Given the description of an element on the screen output the (x, y) to click on. 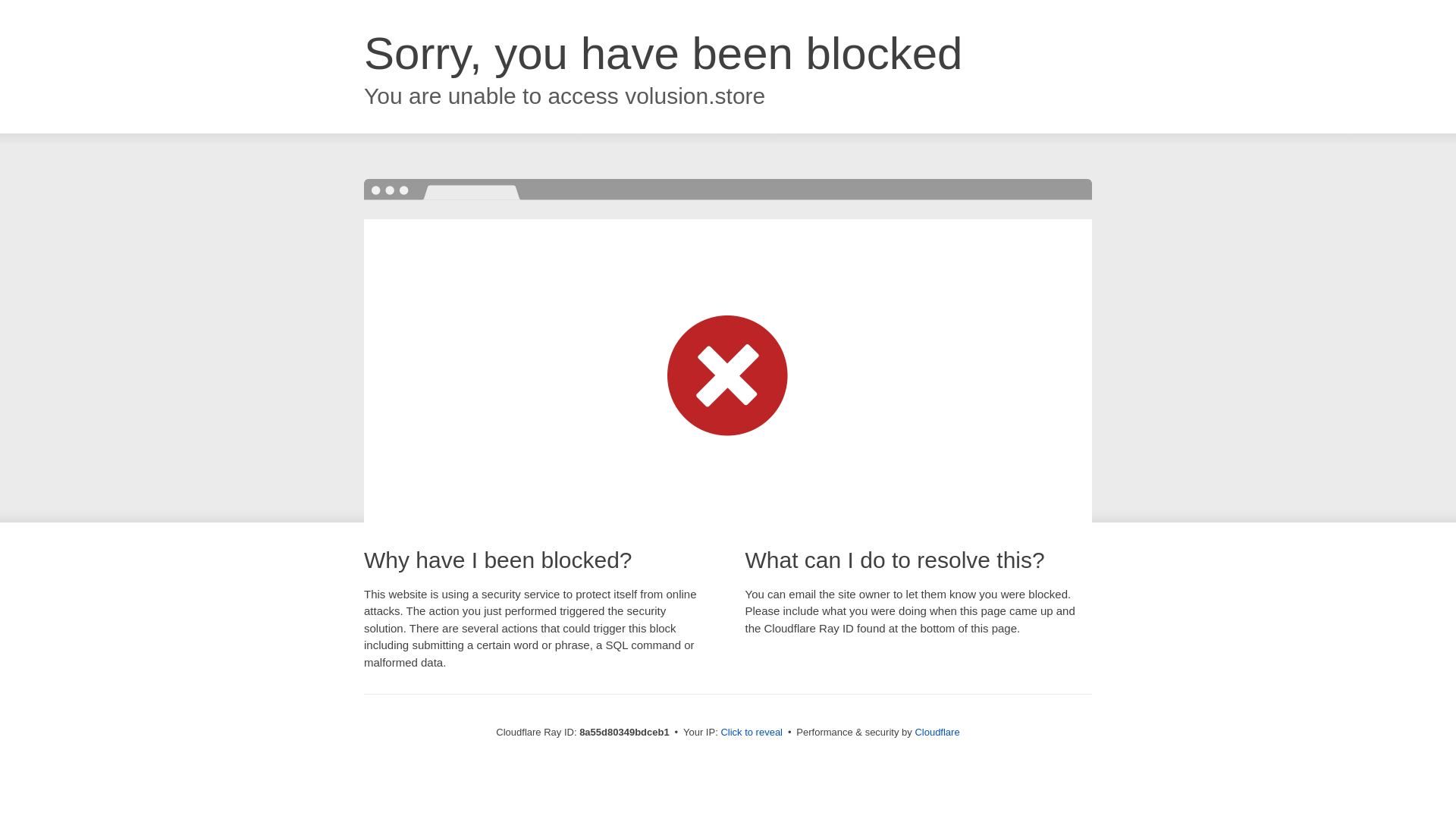
Click to reveal (751, 732)
Cloudflare (936, 731)
